Given the description of an element on the screen output the (x, y) to click on. 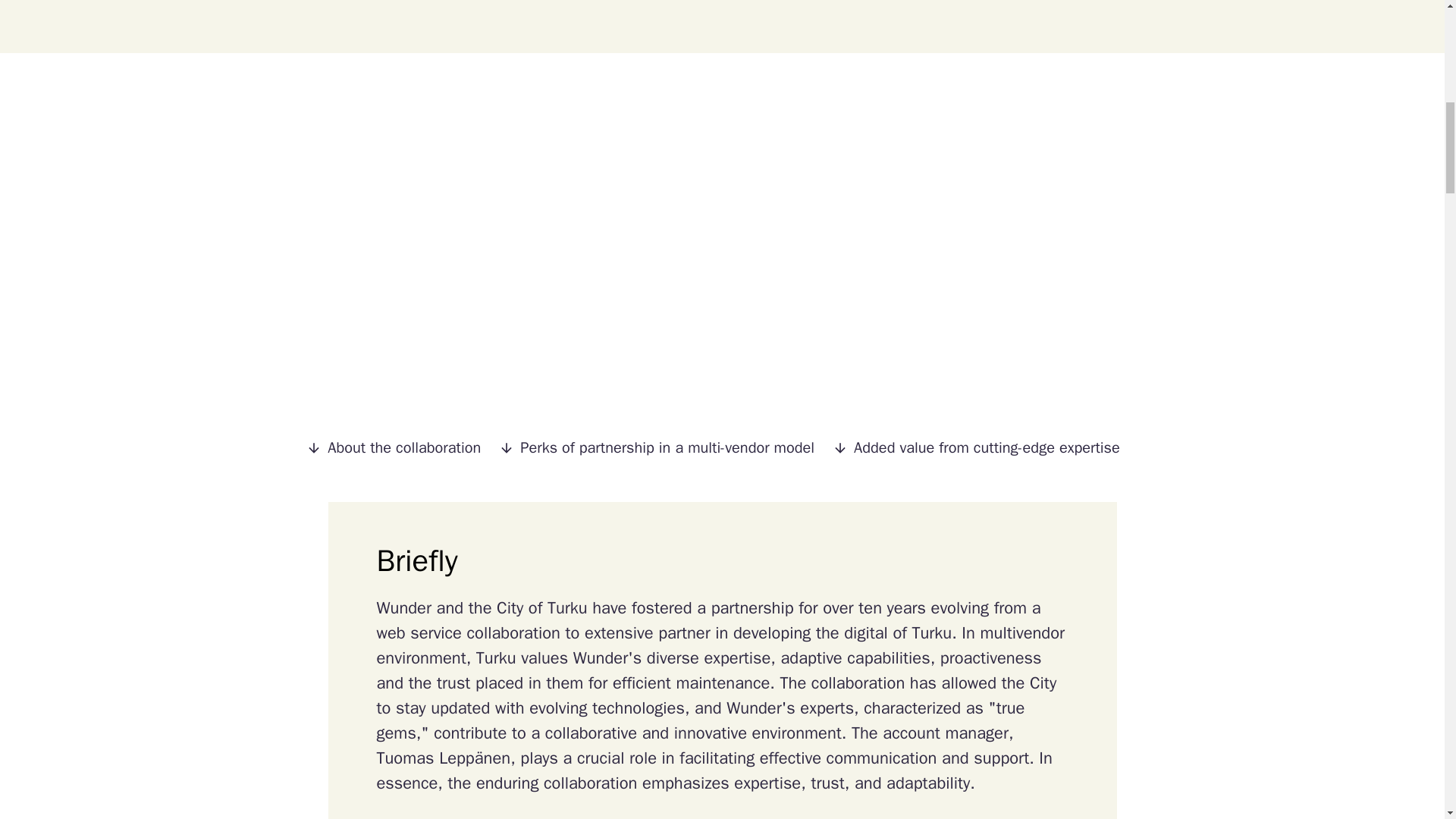
Added value from cutting-edge expertise (985, 447)
About the collaboration (402, 447)
Perks of partnership in a multi-vendor model (665, 447)
